Given the description of an element on the screen output the (x, y) to click on. 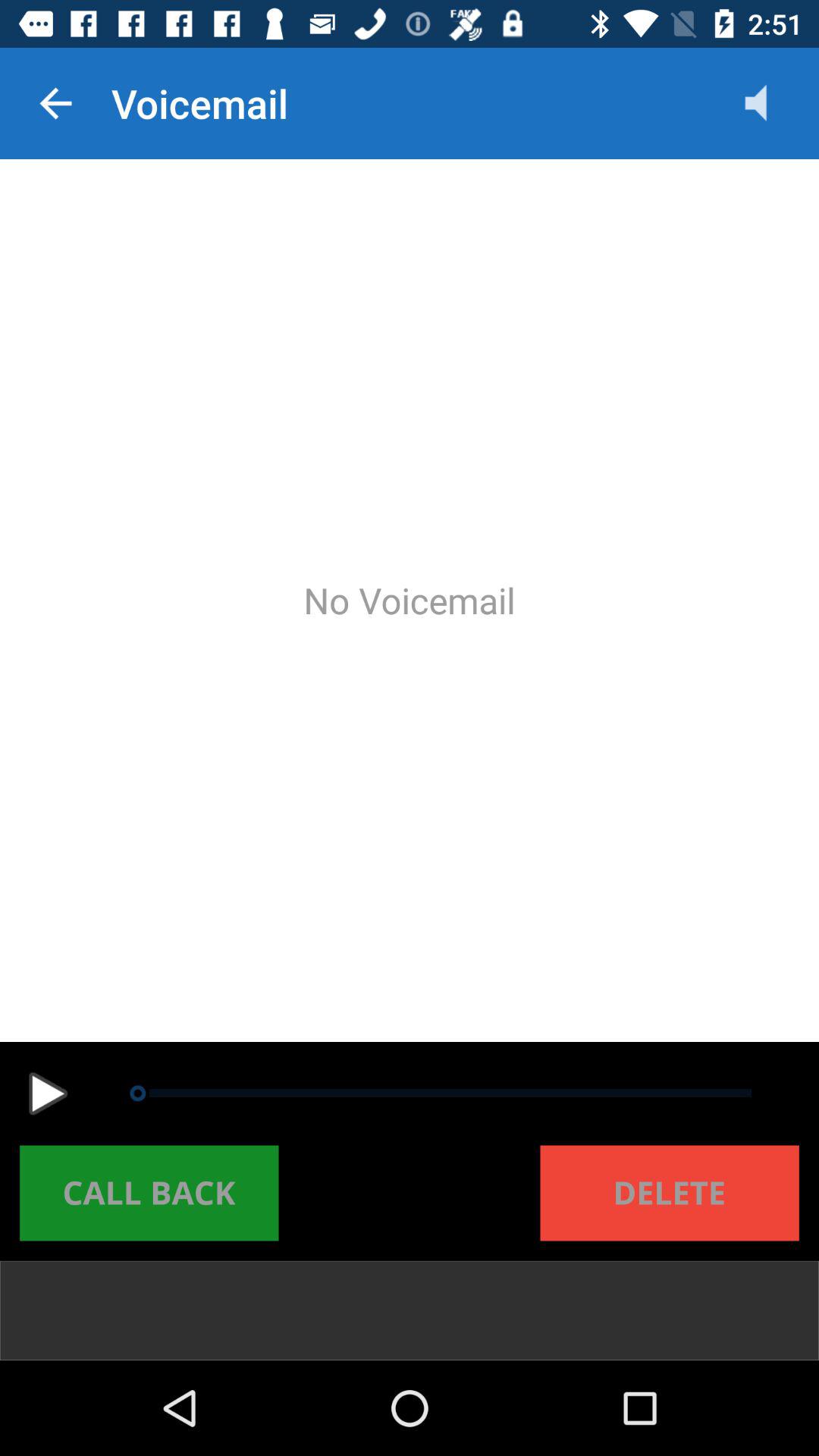
pay voicemail (47, 1093)
